Given the description of an element on the screen output the (x, y) to click on. 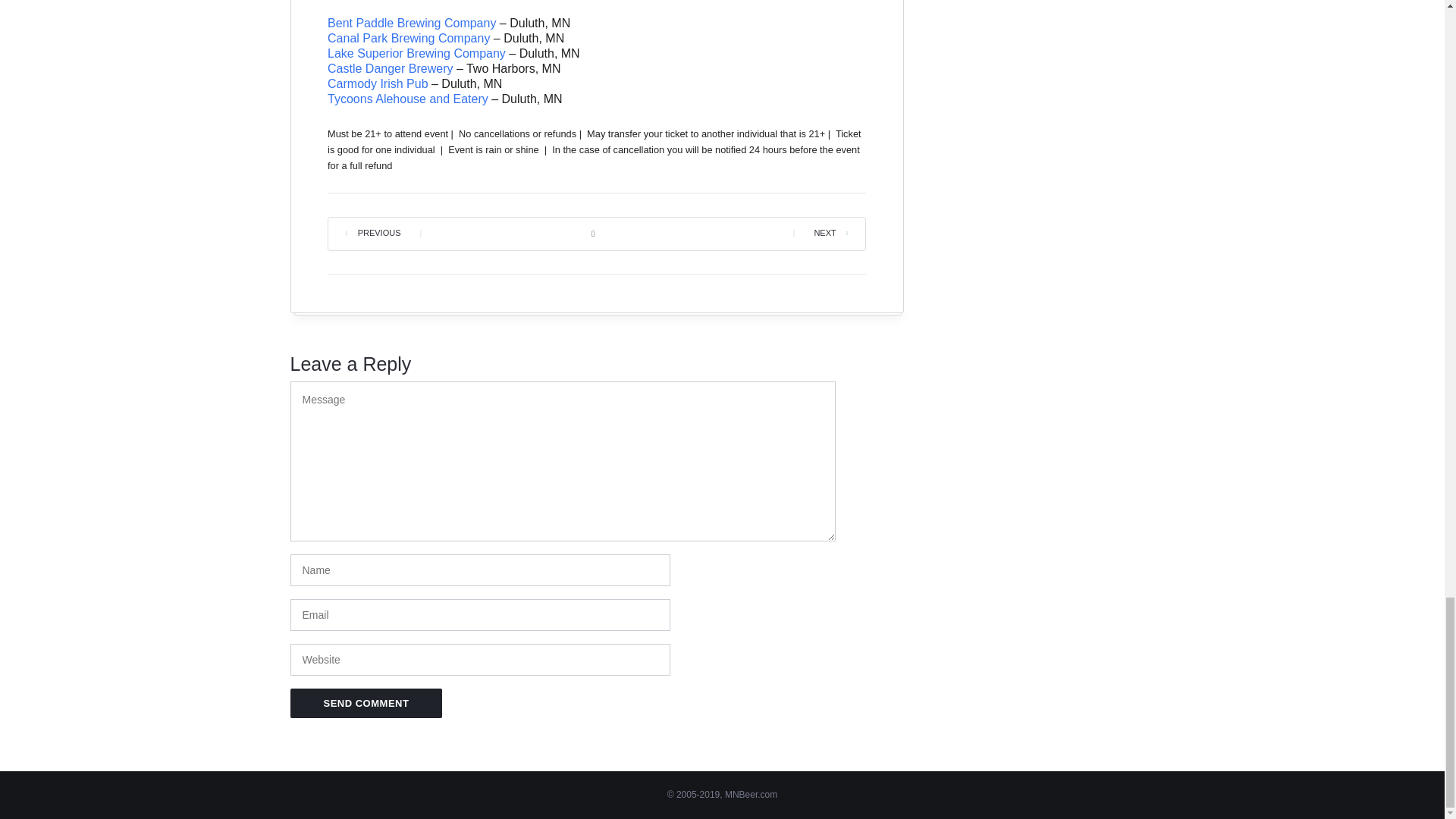
Send Comment (365, 703)
Castle Danger Brewery (389, 68)
Tycoons Alehouse and Eatery (407, 98)
Bent Paddle Brewing Company (411, 22)
Lake Superior Brewing Company (416, 52)
Canal Park Brewing Company (408, 38)
Carmody Irish Pub (377, 83)
